Given the description of an element on the screen output the (x, y) to click on. 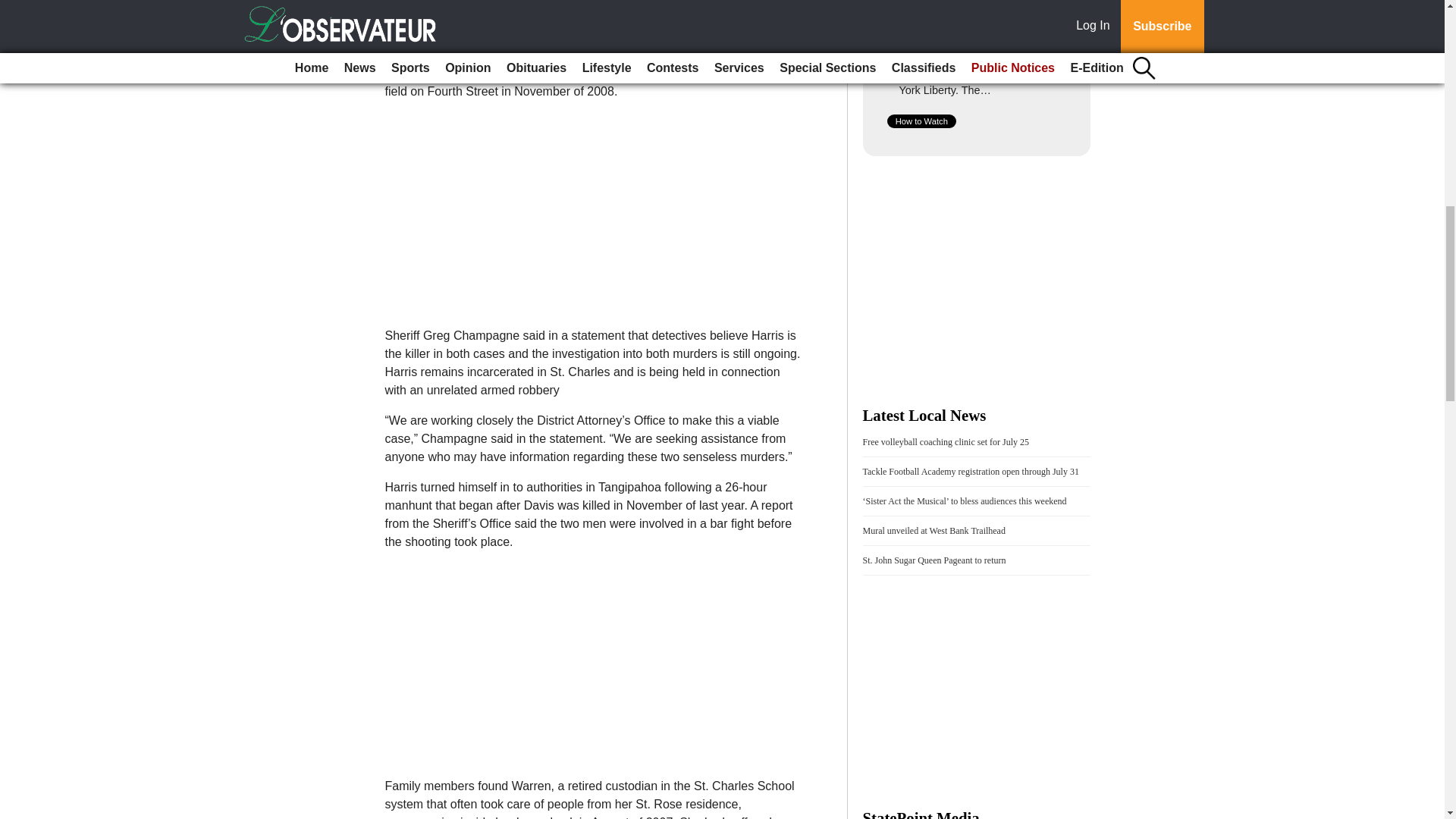
How to Watch (921, 120)
St. John Sugar Queen Pageant to return (934, 560)
Free volleyball coaching clinic set for July 25 (946, 441)
Mural unveiled at West Bank Trailhead (934, 530)
Tackle Football Academy registration open through July 31 (970, 471)
